Given the description of an element on the screen output the (x, y) to click on. 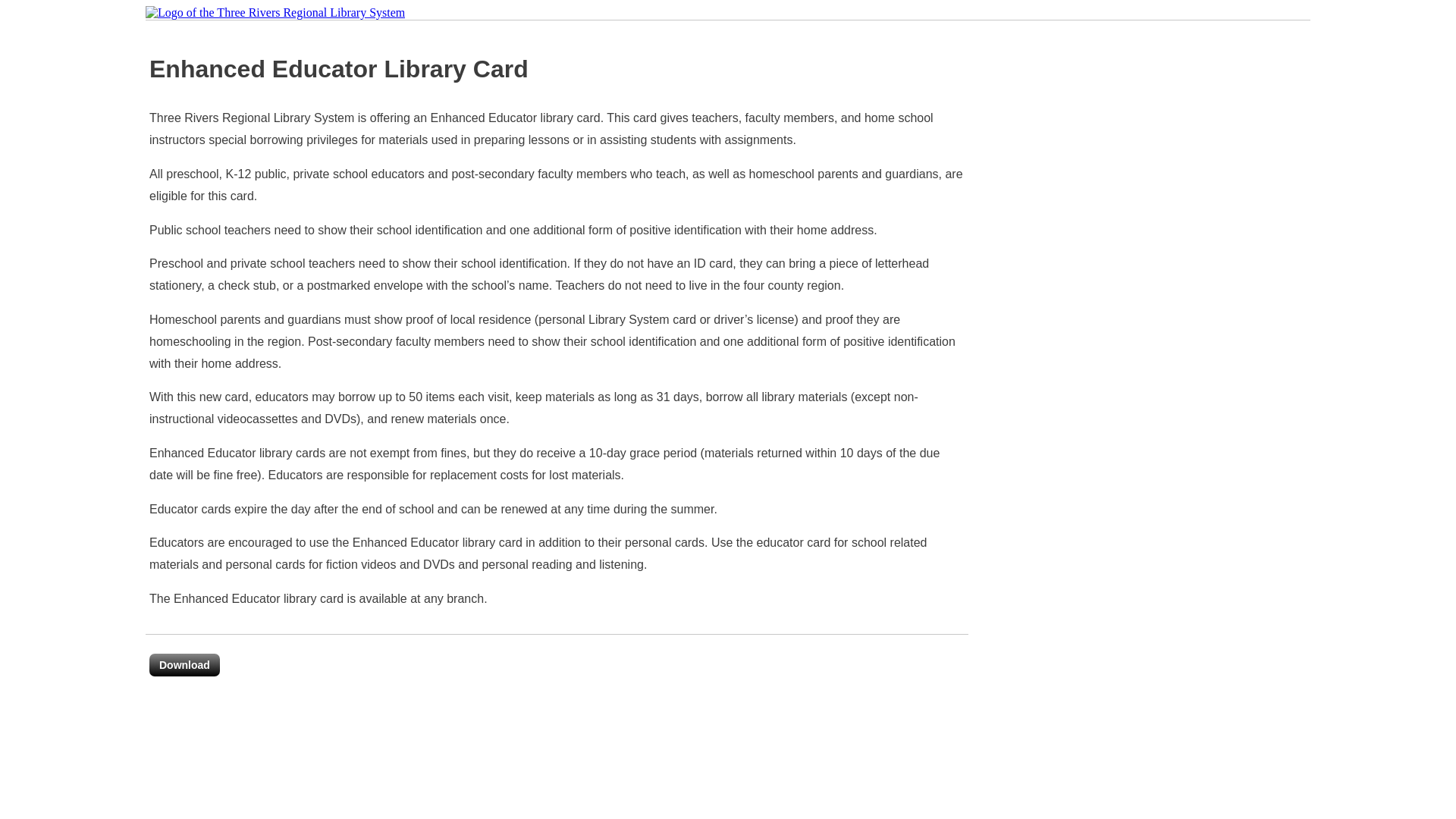
Download Element type: text (184, 664)
Three Rivers Home Page Element type: hover (274, 12)
